Given the description of an element on the screen output the (x, y) to click on. 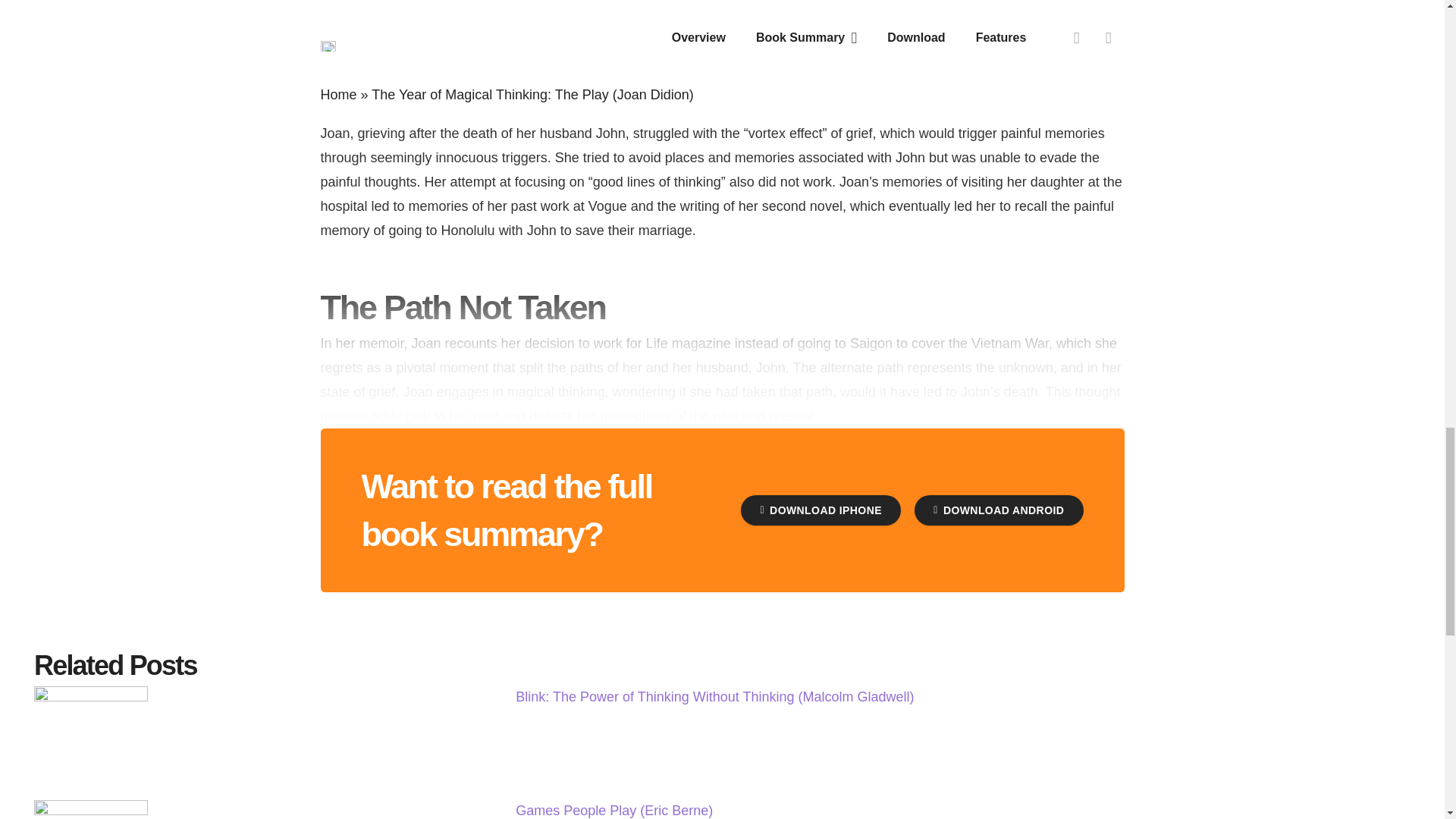
DOWNLOAD IPHONE (821, 509)
